Given the description of an element on the screen output the (x, y) to click on. 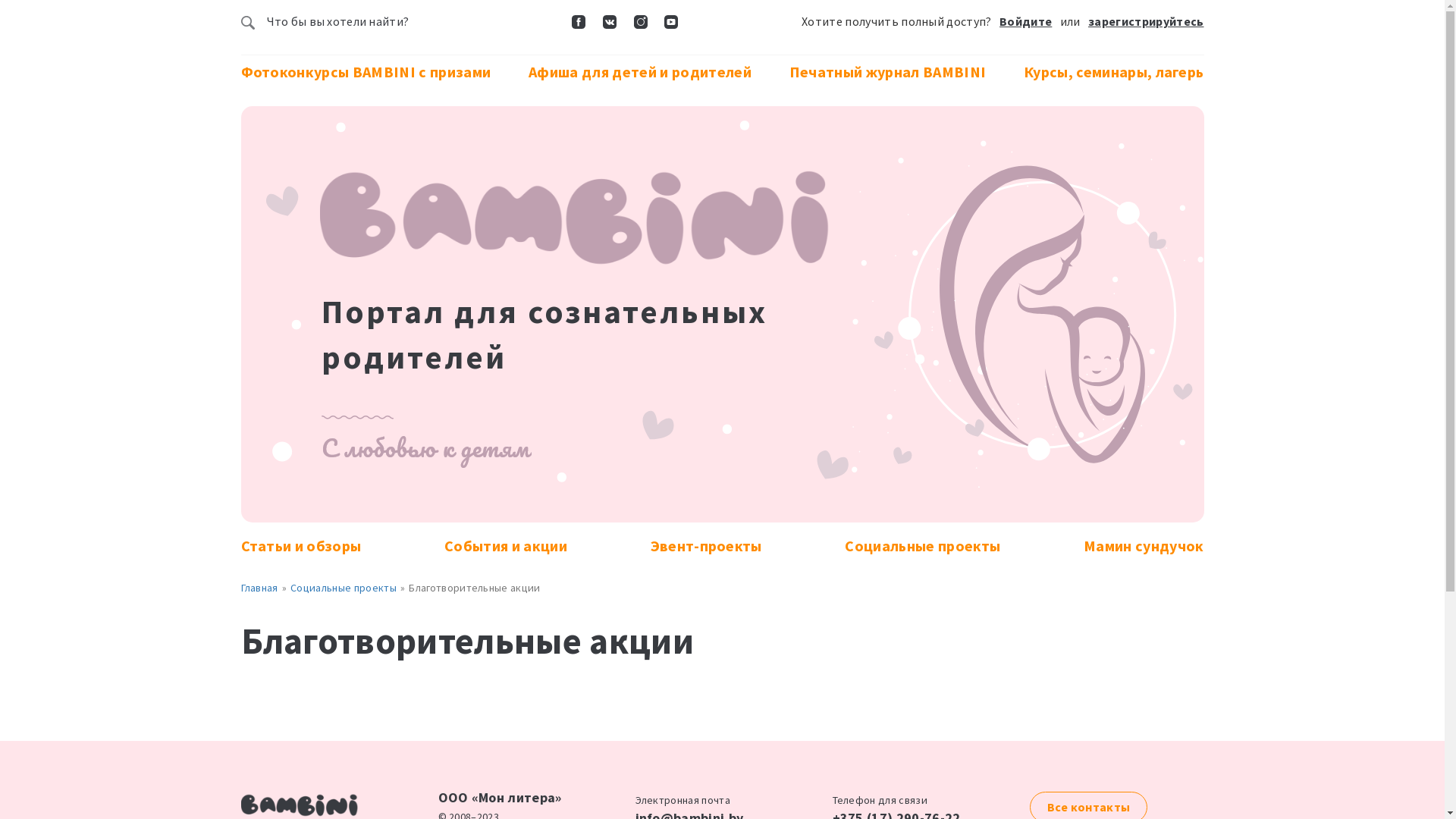
Instagram Element type: hover (640, 27)
YouTube Element type: hover (671, 27)
Facebook Element type: hover (578, 27)
